Given the description of an element on the screen output the (x, y) to click on. 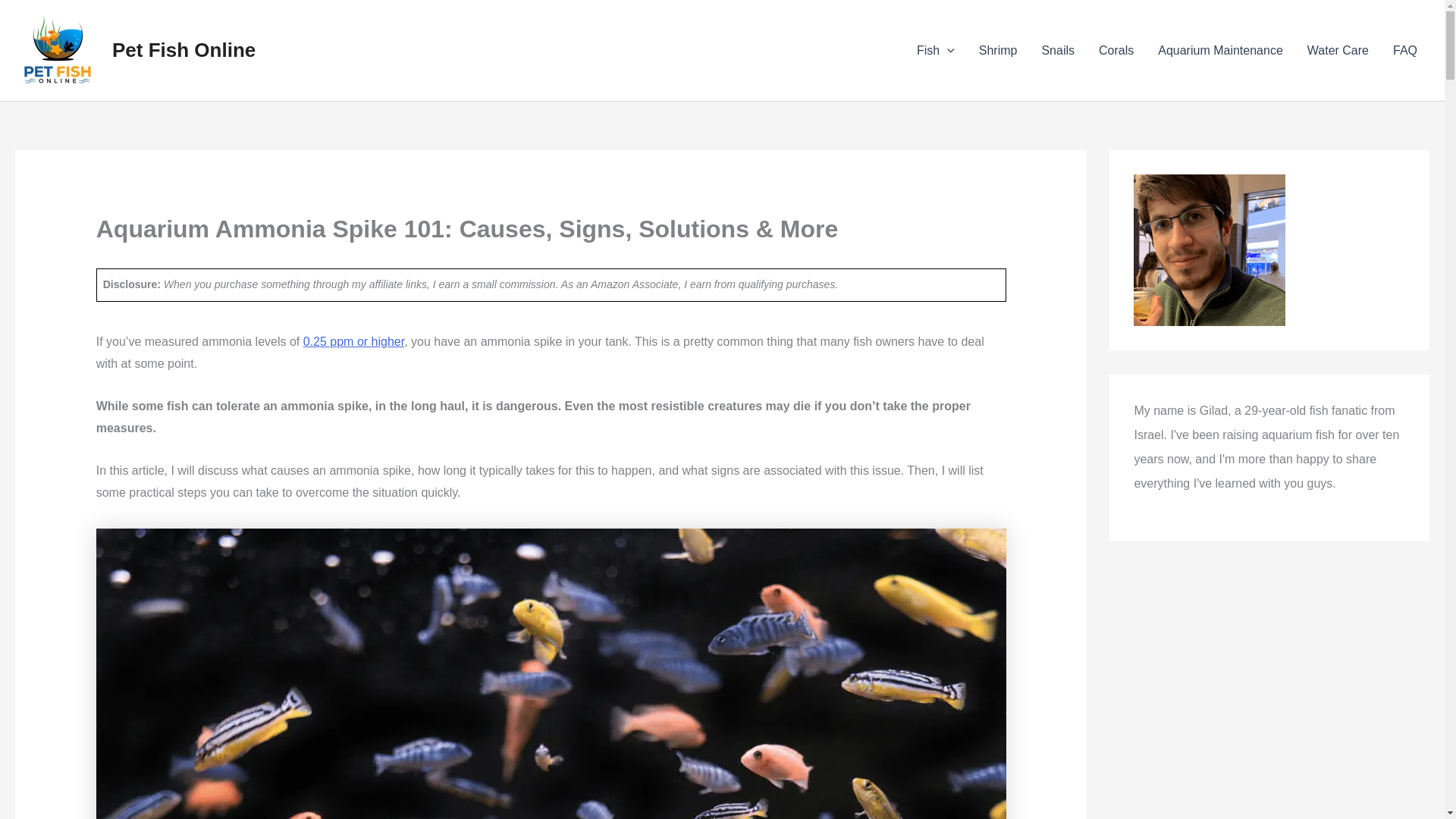
Snails (1057, 49)
Aquarium Maintenance (1220, 49)
Fish (935, 49)
0.25 ppm or higher (353, 341)
Pet Fish Online (184, 49)
Water Care (1337, 49)
Shrimp (997, 49)
Corals (1115, 49)
